Given the description of an element on the screen output the (x, y) to click on. 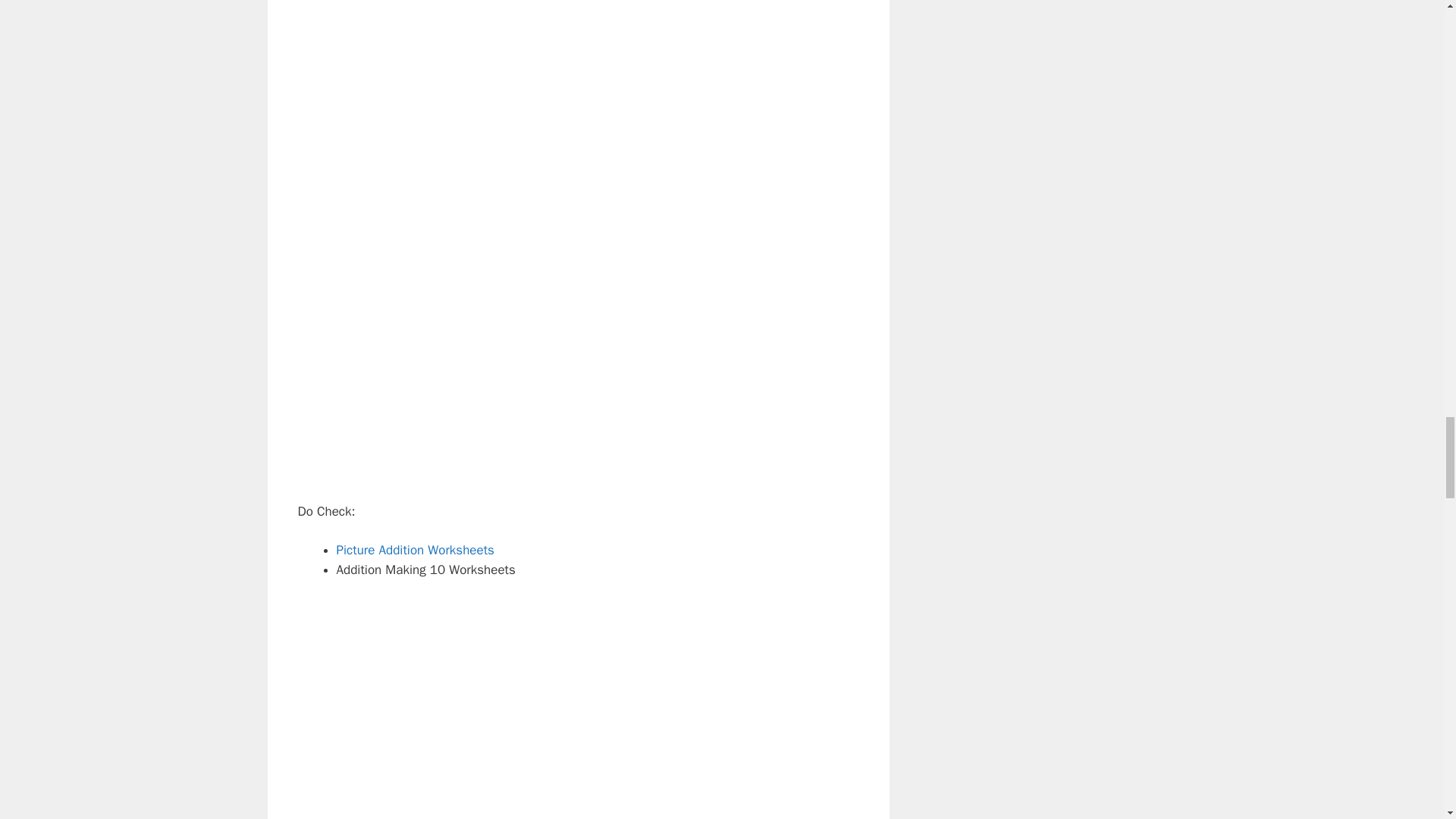
Picture Addition Worksheets (415, 549)
